Given the description of an element on the screen output the (x, y) to click on. 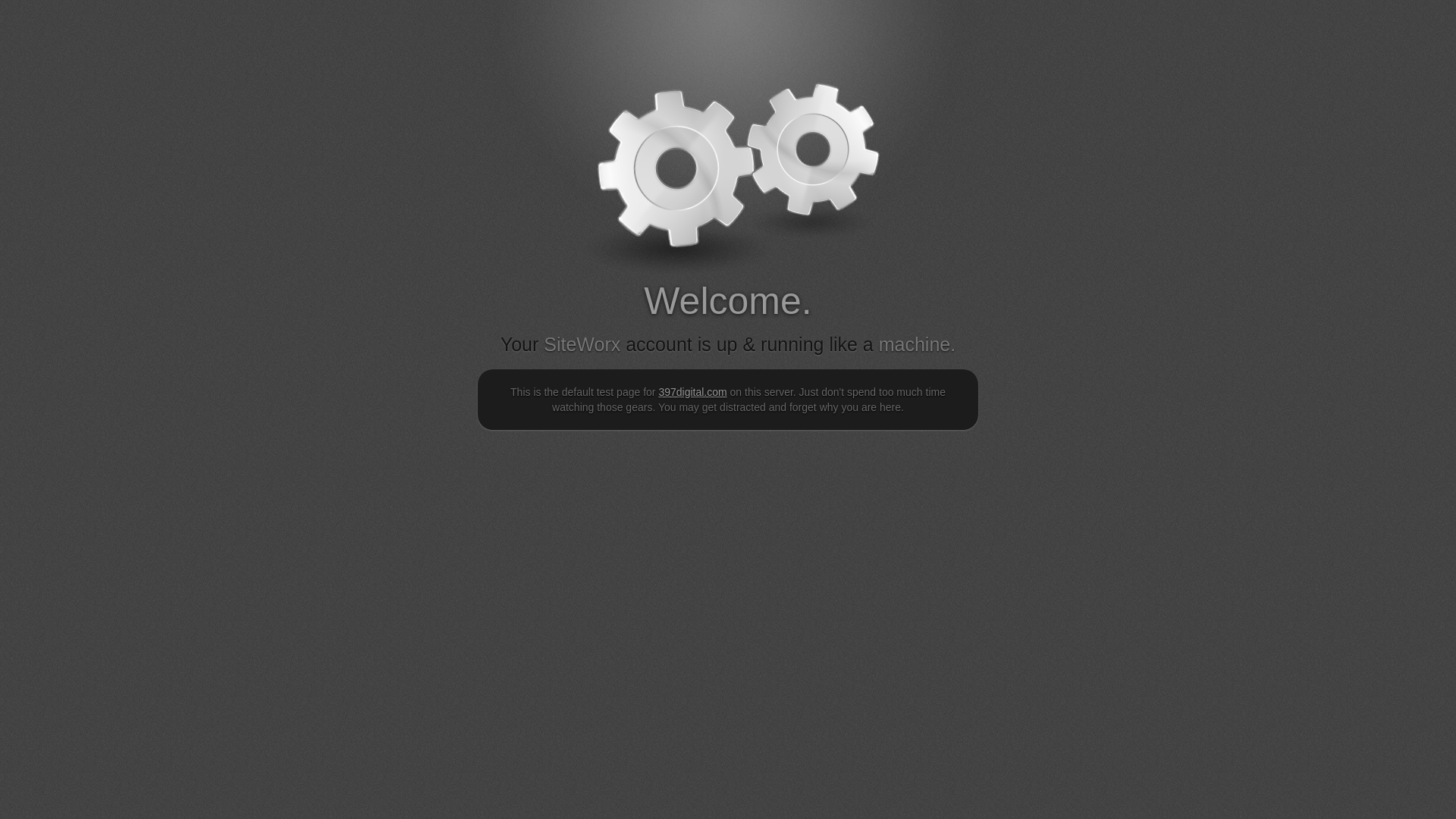
397digital.com Element type: text (692, 391)
